Given the description of an element on the screen output the (x, y) to click on. 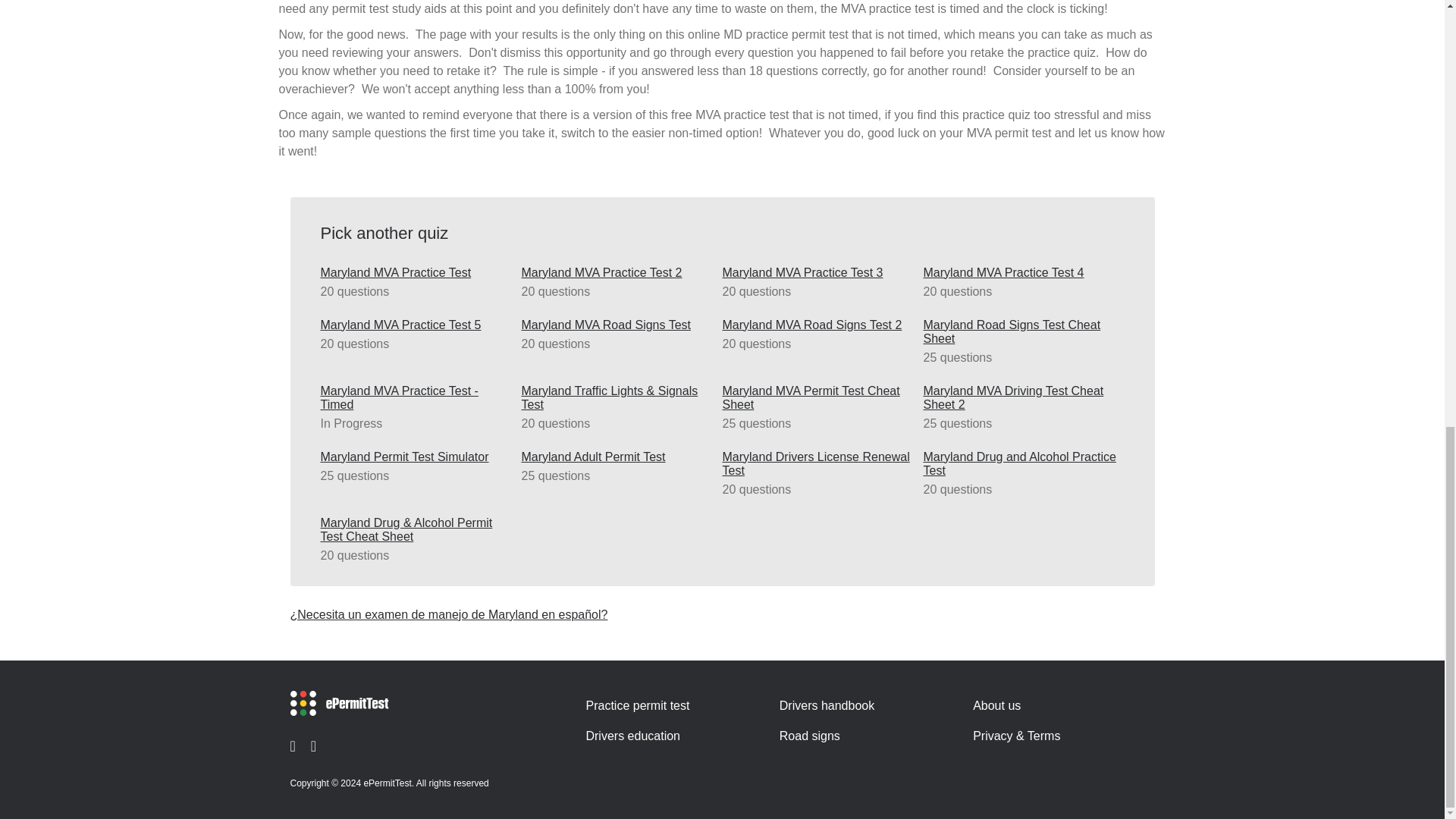
Maryland MVA Practice Test 3 (818, 273)
Maryland MVA Road Signs Test 2 (818, 325)
Maryland MVA Road Signs Test (617, 325)
Maryland Road Signs Test Cheat Sheet (1019, 331)
Maryland MVA Practice Test 2 (617, 273)
Maryland Adult Permit Test (617, 457)
Maryland MVA Road Signs Test 2 (818, 325)
Maryland MVA Permit Test Cheat Sheet (818, 397)
Maryland MVA Road Signs Test (617, 325)
Maryland MVA Practice Test (416, 273)
Maryland MVA Practice Test 2 (617, 273)
Maryland MVA Practice Test 5 (416, 325)
Maryland MVA Driving Test Cheat Sheet 2 (1019, 397)
Maryland Road Signs Test Cheat Sheet (1019, 331)
Maryland MVA Practice Test - Timed (416, 397)
